Given the description of an element on the screen output the (x, y) to click on. 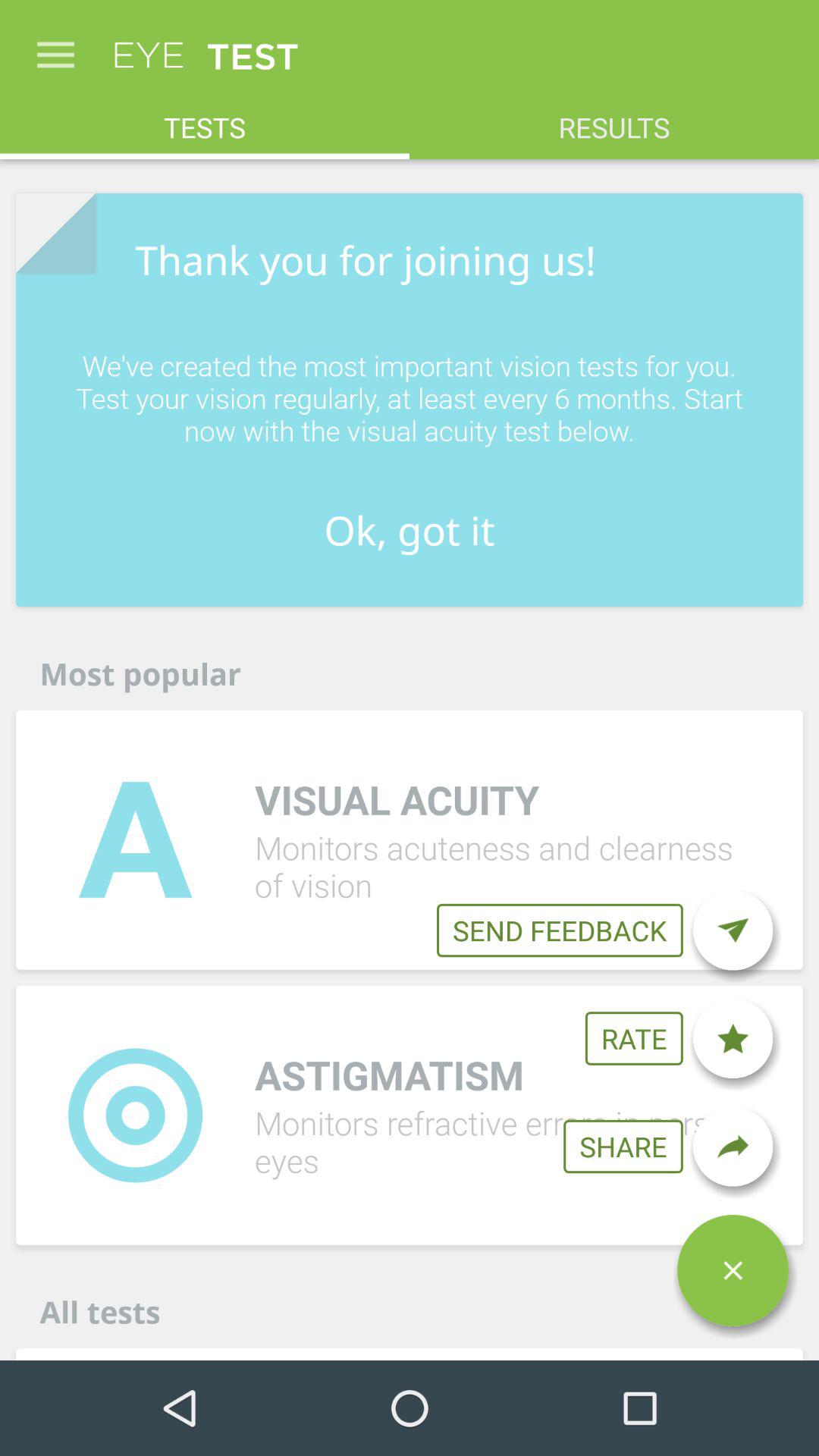
turn off icon next to rate (733, 1038)
